Given the description of an element on the screen output the (x, y) to click on. 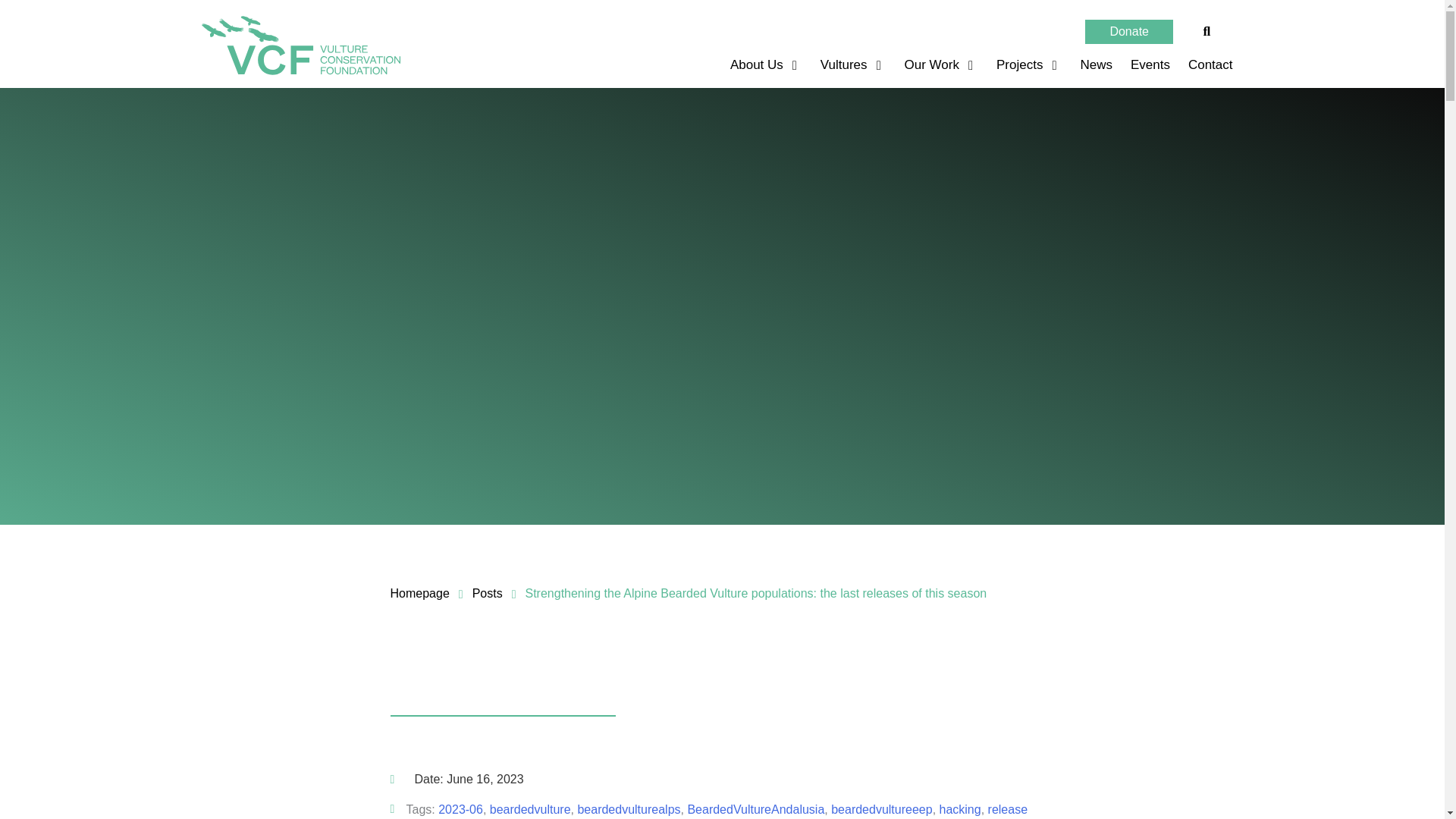
Vultures (845, 64)
Donate (1128, 31)
Our Work (933, 64)
About Us (758, 64)
